Given the description of an element on the screen output the (x, y) to click on. 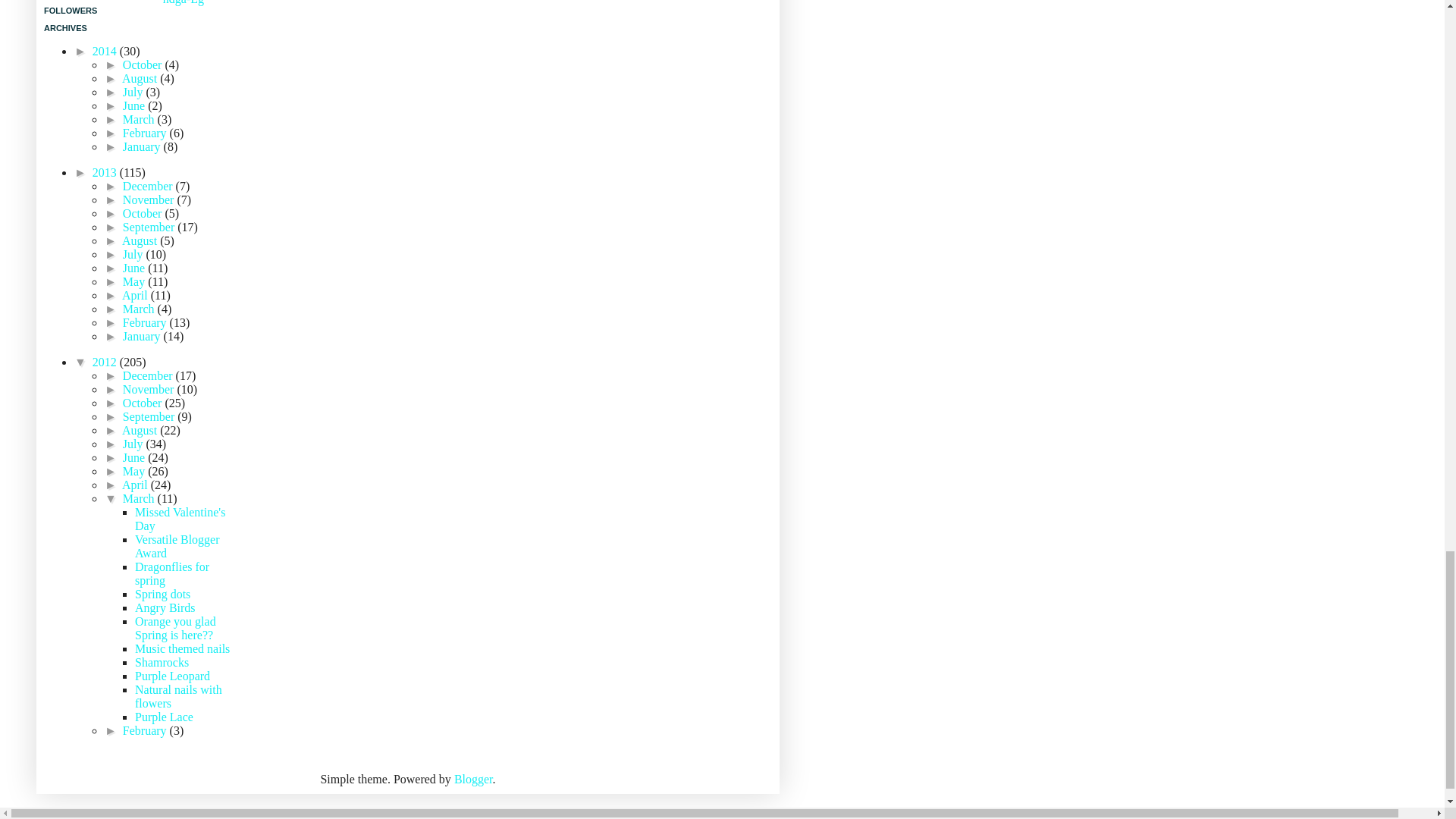
August (141, 78)
October (143, 64)
July (134, 91)
2014 (106, 51)
